Given the description of an element on the screen output the (x, y) to click on. 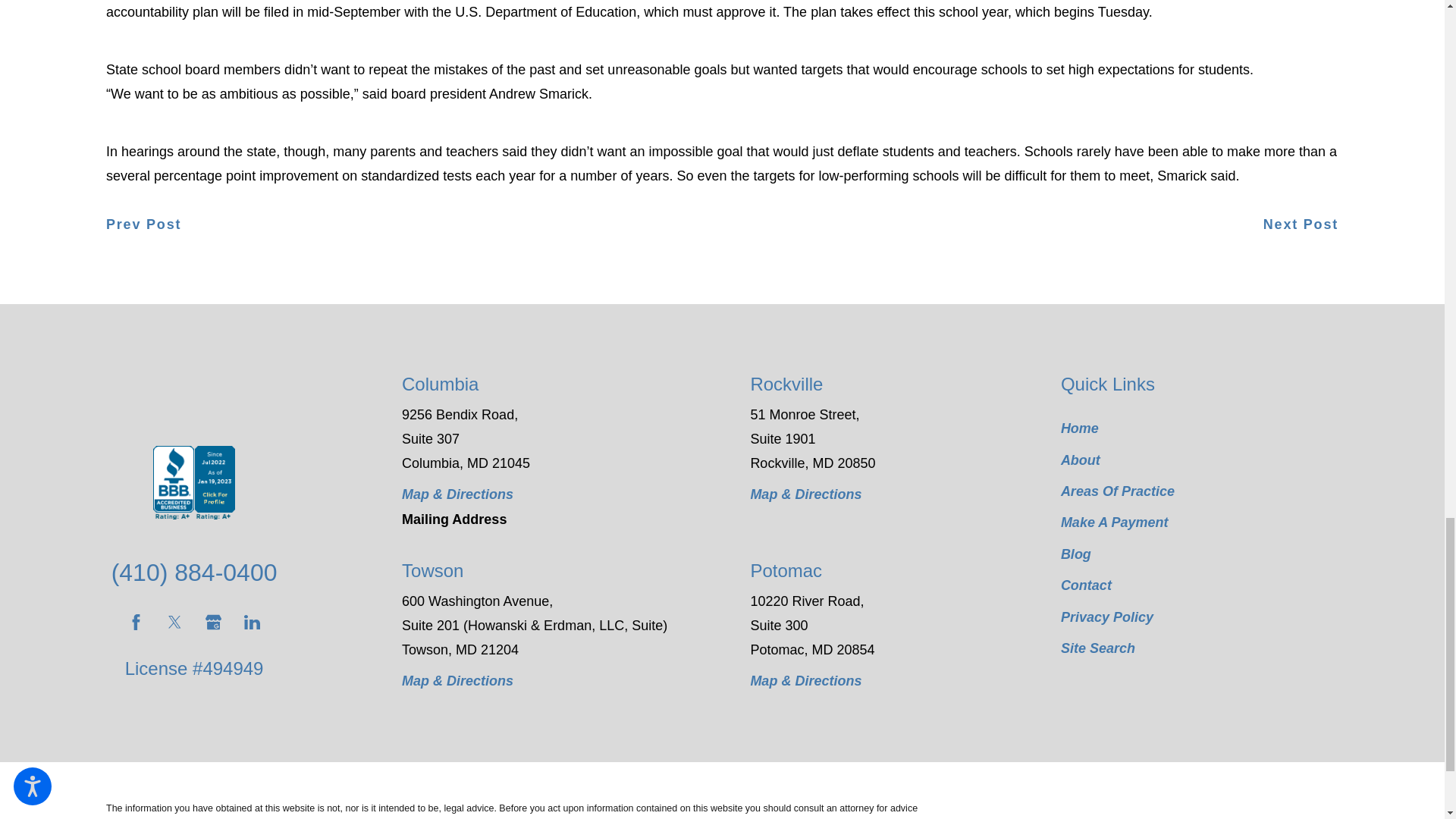
Twitter (175, 621)
Google Business Profile (213, 621)
Facebook (136, 621)
LinkedIn (252, 621)
